Given the description of an element on the screen output the (x, y) to click on. 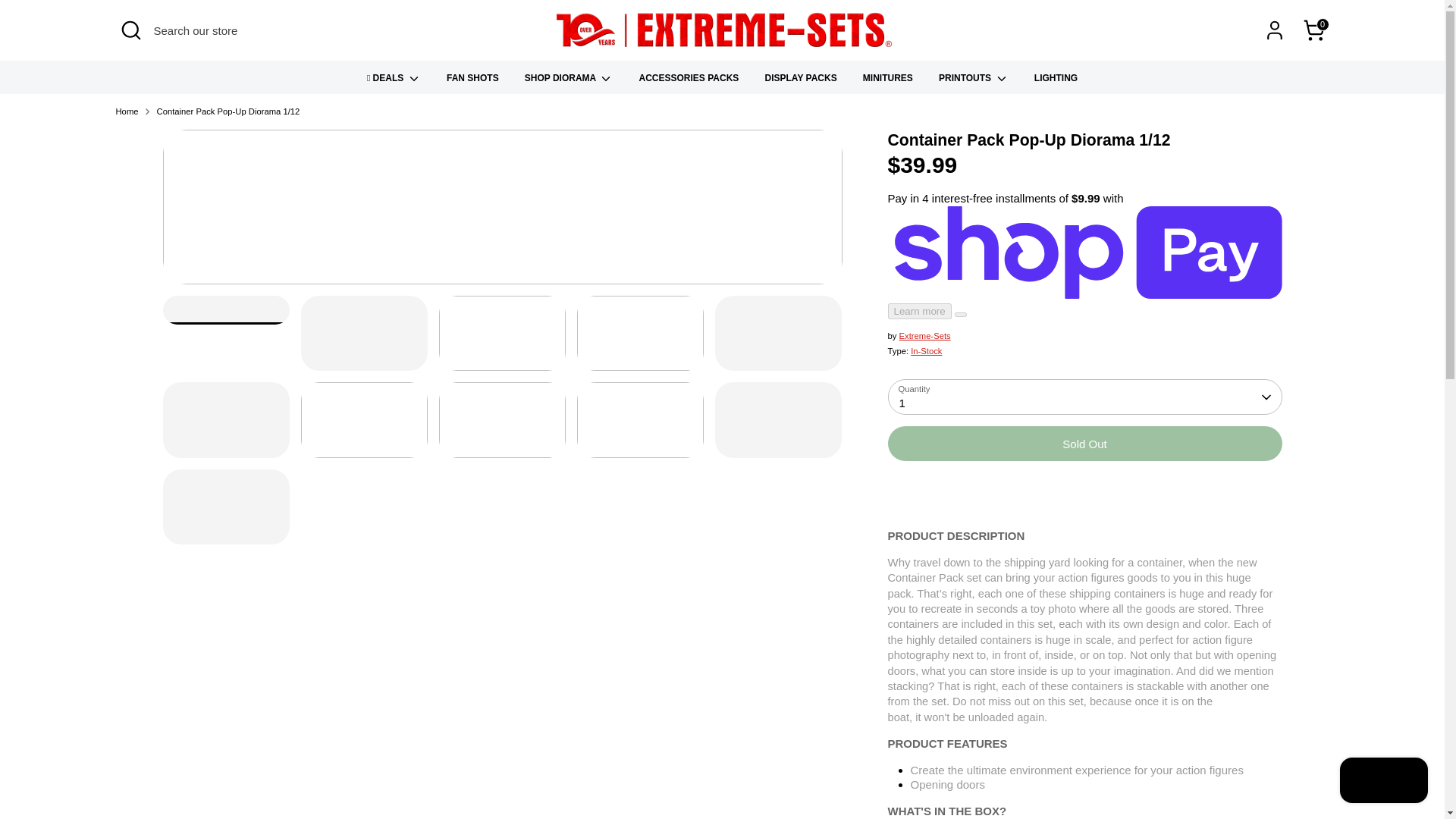
Shopify online store chat (1383, 781)
0 (1312, 30)
